Given the description of an element on the screen output the (x, y) to click on. 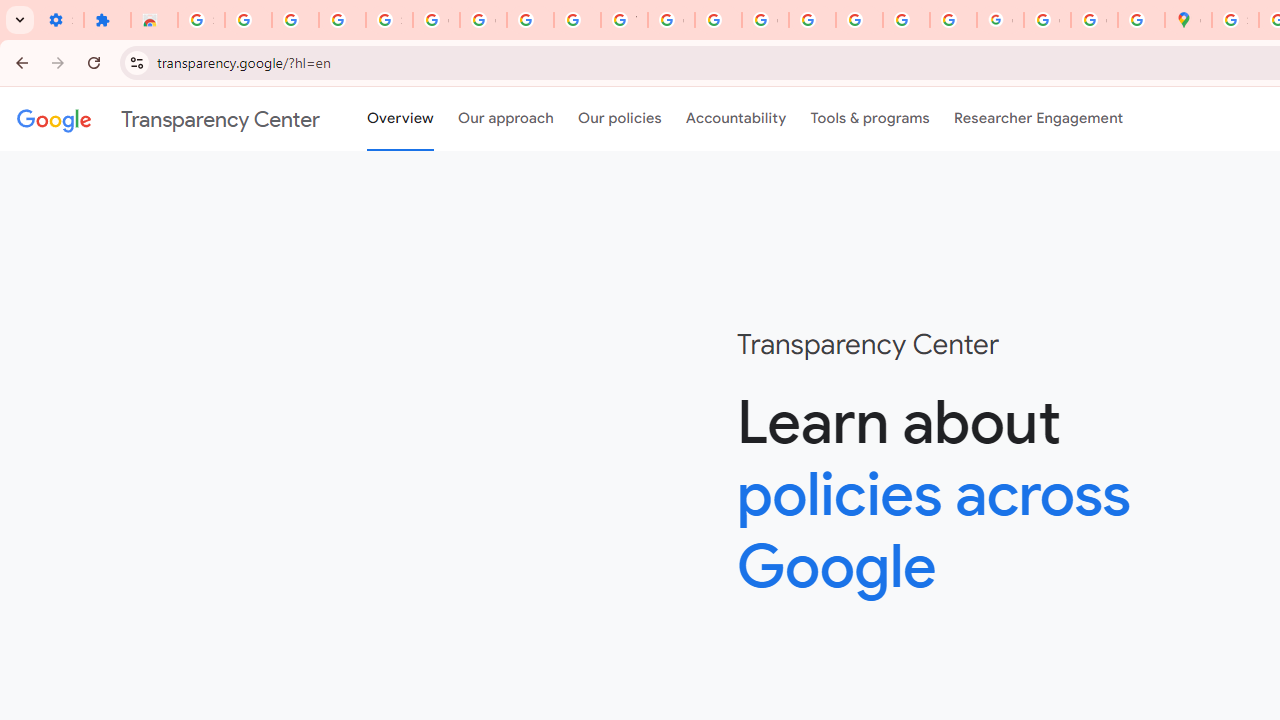
Researcher Engagement (1038, 119)
Google Account Help (436, 20)
Learn how to find your photos - Google Photos Help (294, 20)
Sign in - Google Accounts (201, 20)
Google Maps (1188, 20)
Delete photos & videos - Computer - Google Photos Help (248, 20)
Sign in - Google Accounts (389, 20)
